Given the description of an element on the screen output the (x, y) to click on. 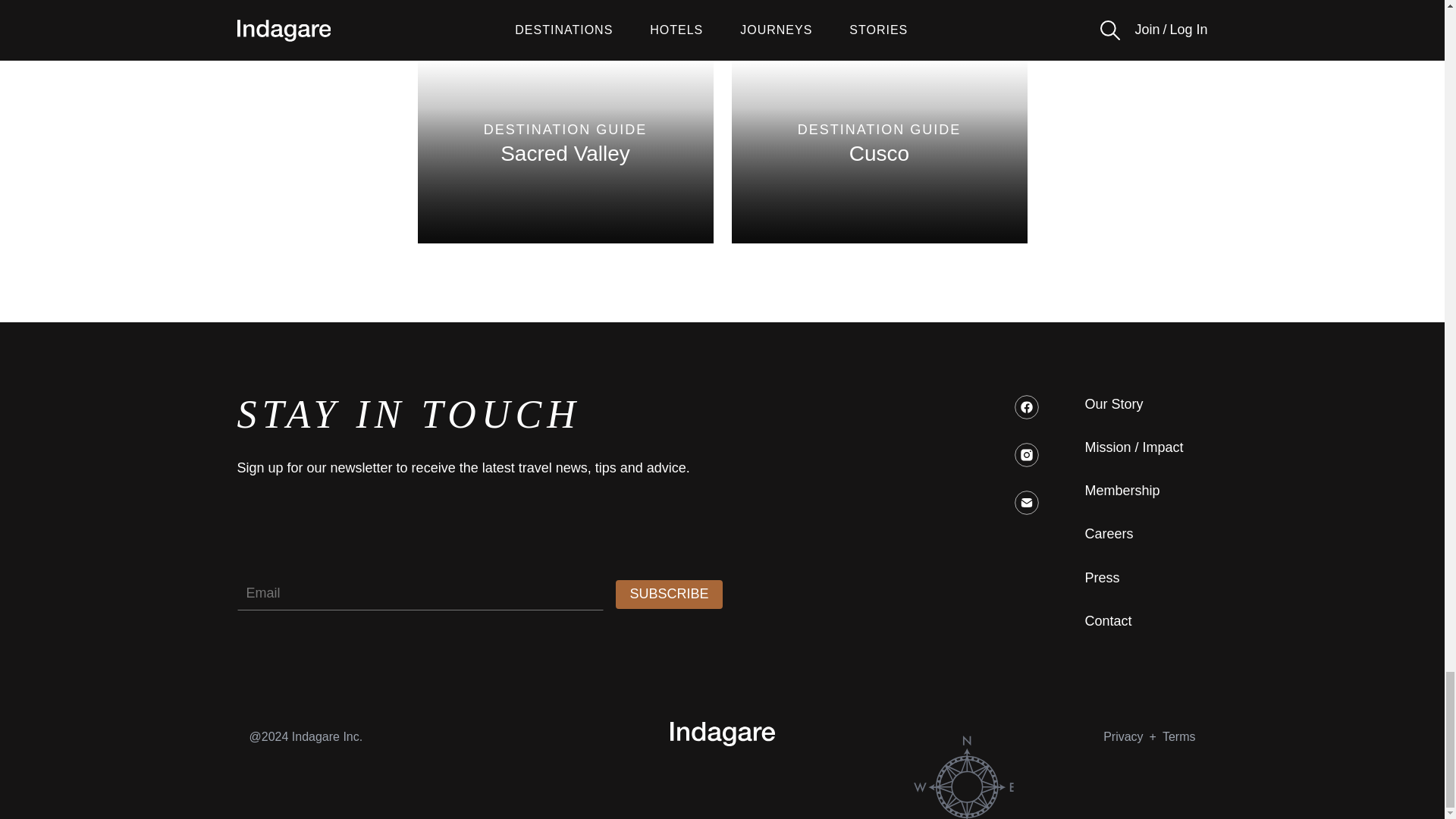
Membership (1121, 490)
Our Story (1113, 404)
SUBSCRIBE (564, 144)
